Given the description of an element on the screen output the (x, y) to click on. 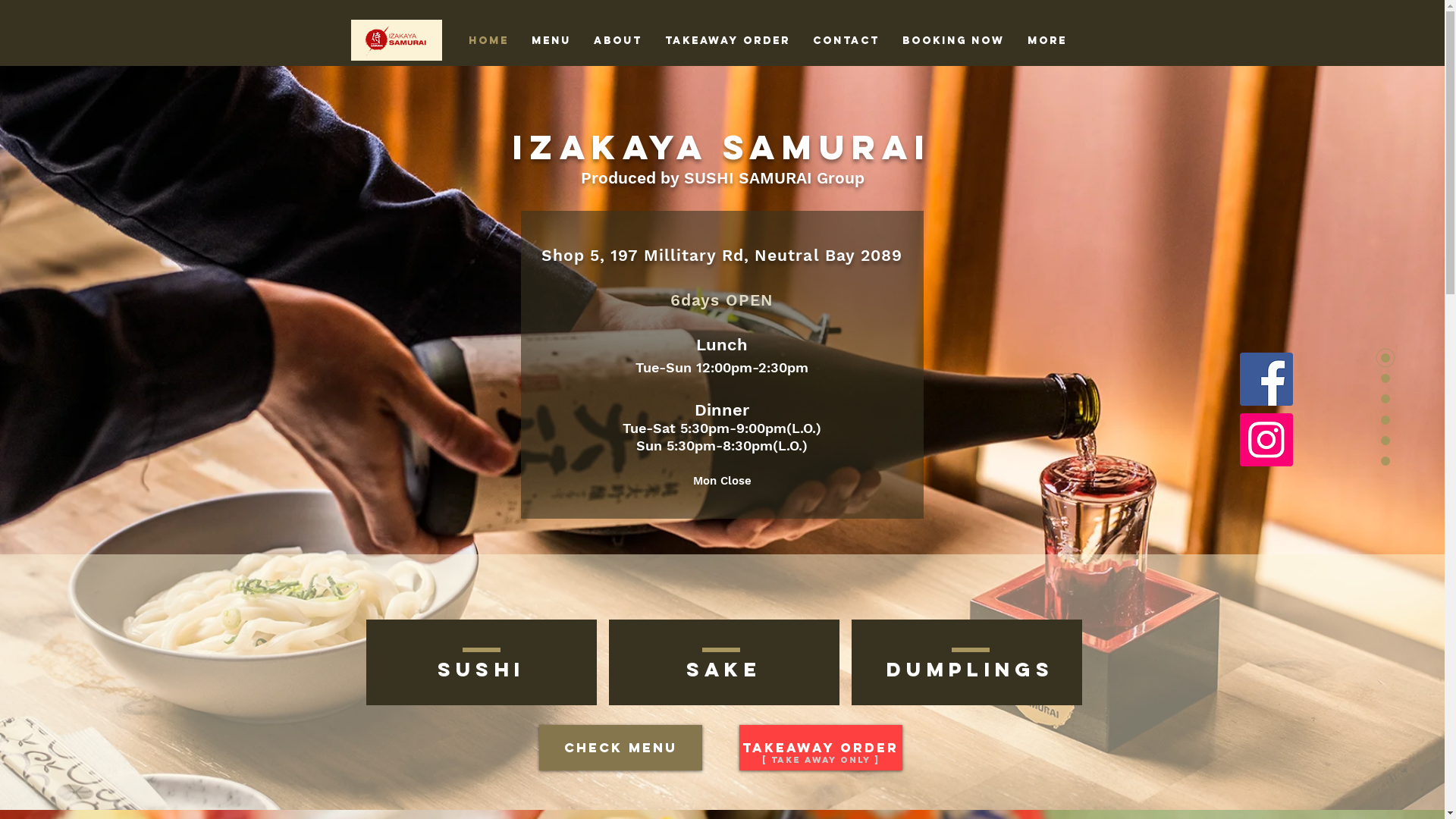
TAKEAWAY ORDER Element type: text (727, 40)
Booking Now Element type: text (952, 40)
CHECK MENU Element type: text (619, 747)
TAKEAWAY ORDER Element type: text (819, 747)
Home Element type: text (487, 40)
Contact Element type: text (845, 40)
Menu Element type: text (551, 40)
About Element type: text (617, 40)
